Given the description of an element on the screen output the (x, y) to click on. 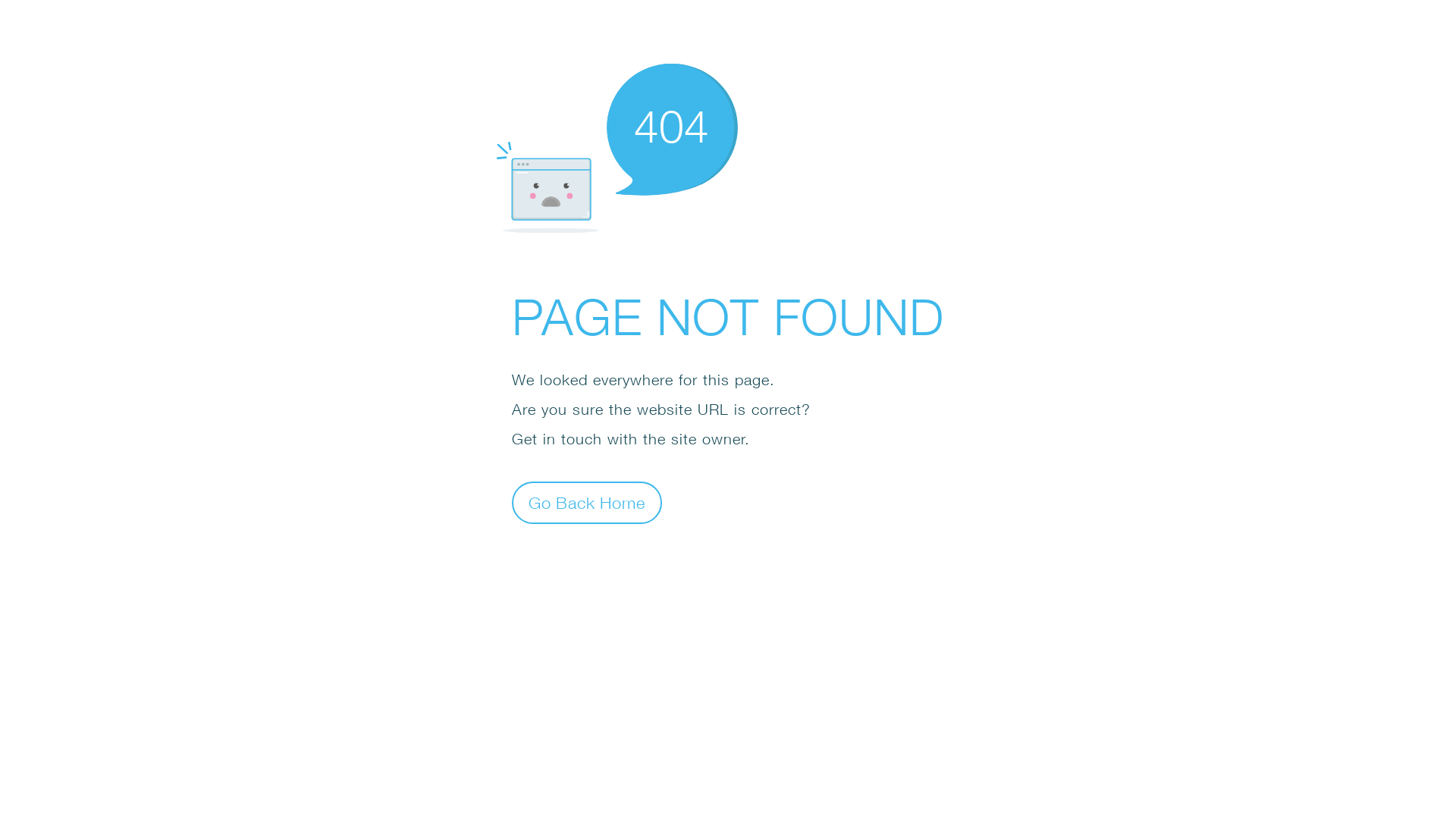
Go Back Home Element type: text (586, 502)
